Given the description of an element on the screen output the (x, y) to click on. 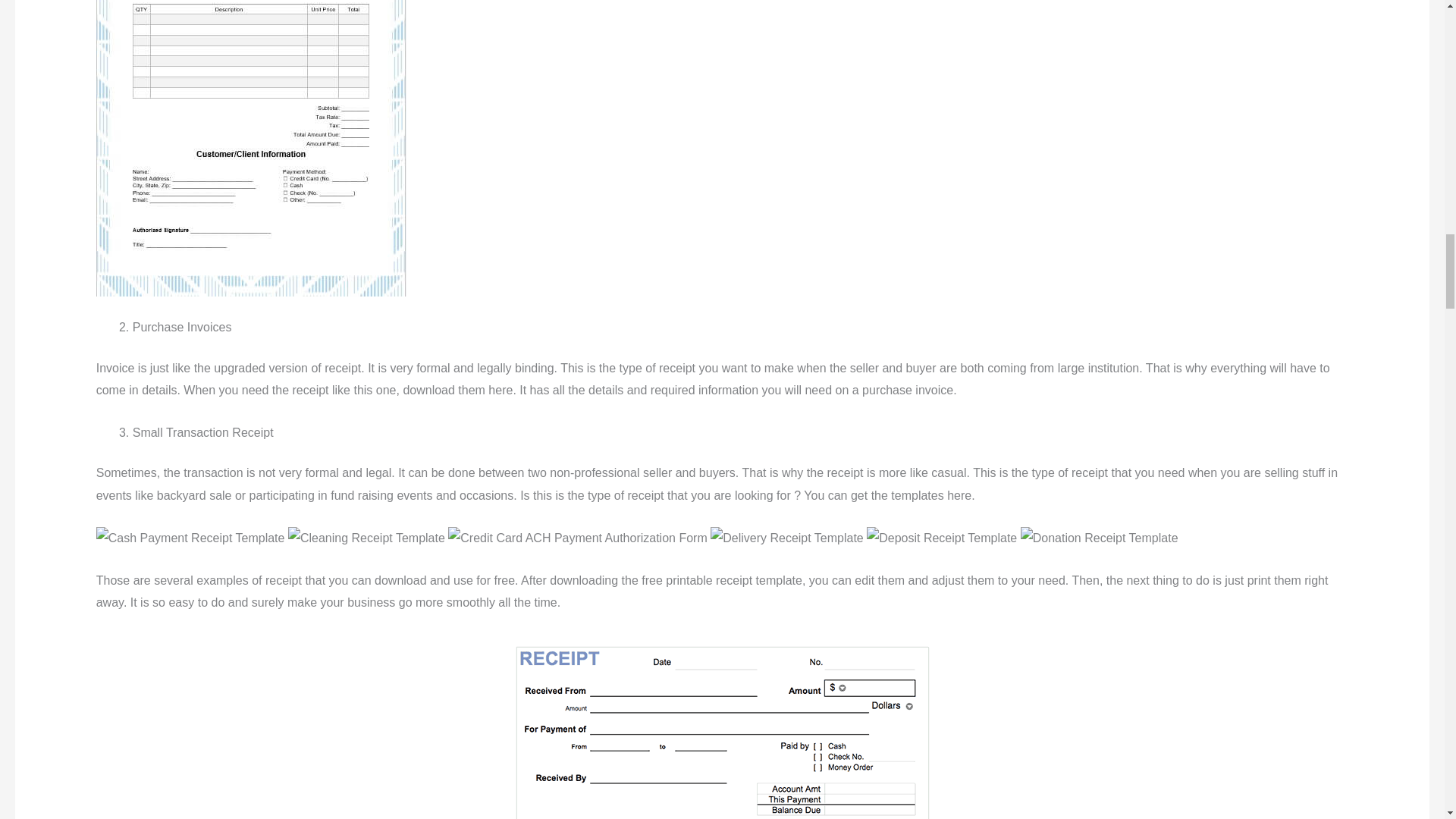
Credit Card ACH Payment Authorization Form (577, 538)
Deposit Receipt Template (941, 538)
Delivery Receipt Template (786, 538)
Business Receipt Template (251, 148)
Cleaning Receipt Template (366, 538)
Donation Receipt Template (1098, 538)
Cash Payment Receipt Template (190, 538)
